Given the description of an element on the screen output the (x, y) to click on. 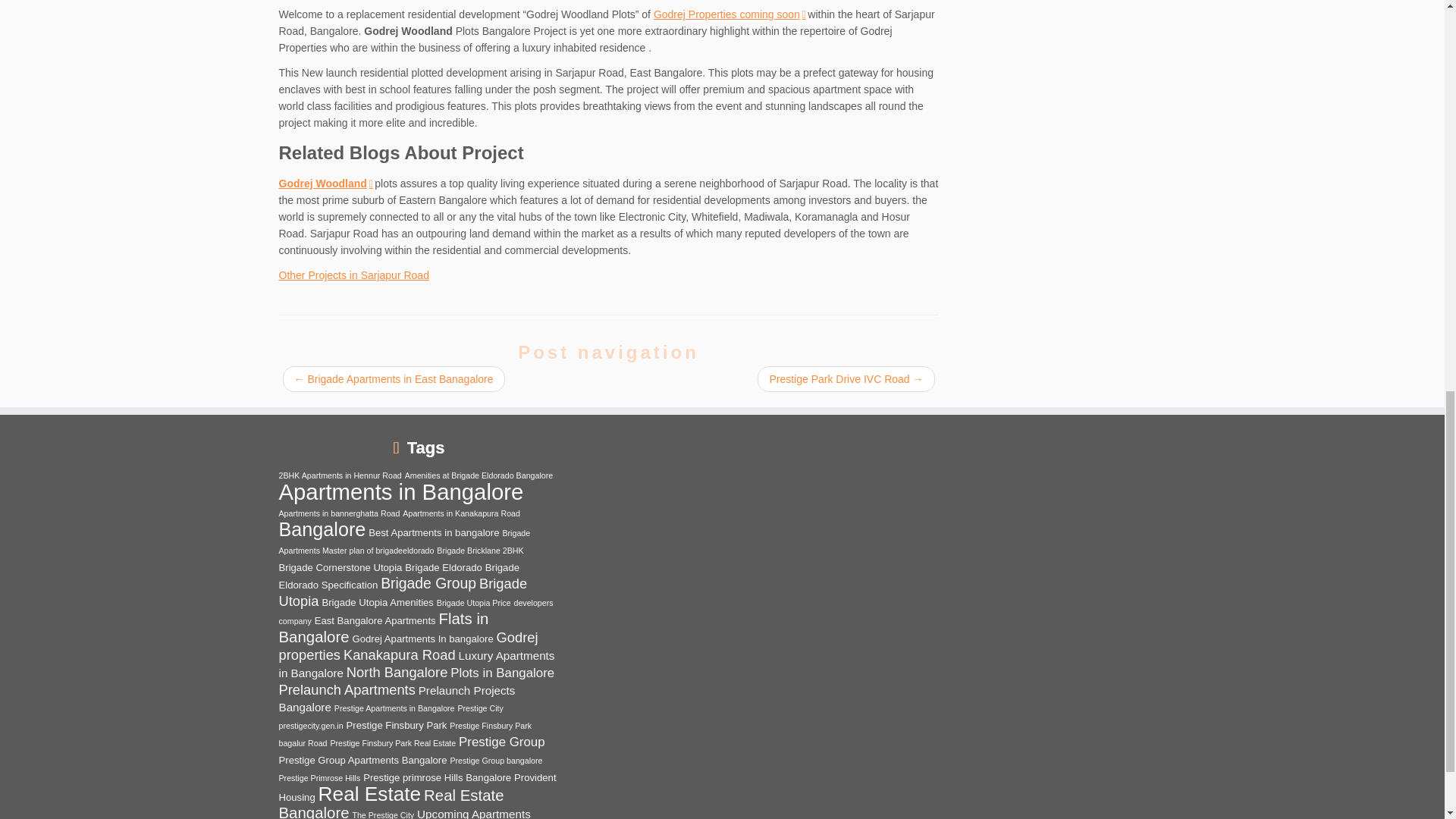
Amenities at Brigade Eldorado Bangalore (478, 474)
Apartments in Bangalore (401, 491)
Godrej Properties coming soon (729, 14)
Godrej Woodland (325, 183)
2BHK Apartments in Hennur Road (340, 474)
Other Projects in Sarjapur Road (354, 275)
